Given the description of an element on the screen output the (x, y) to click on. 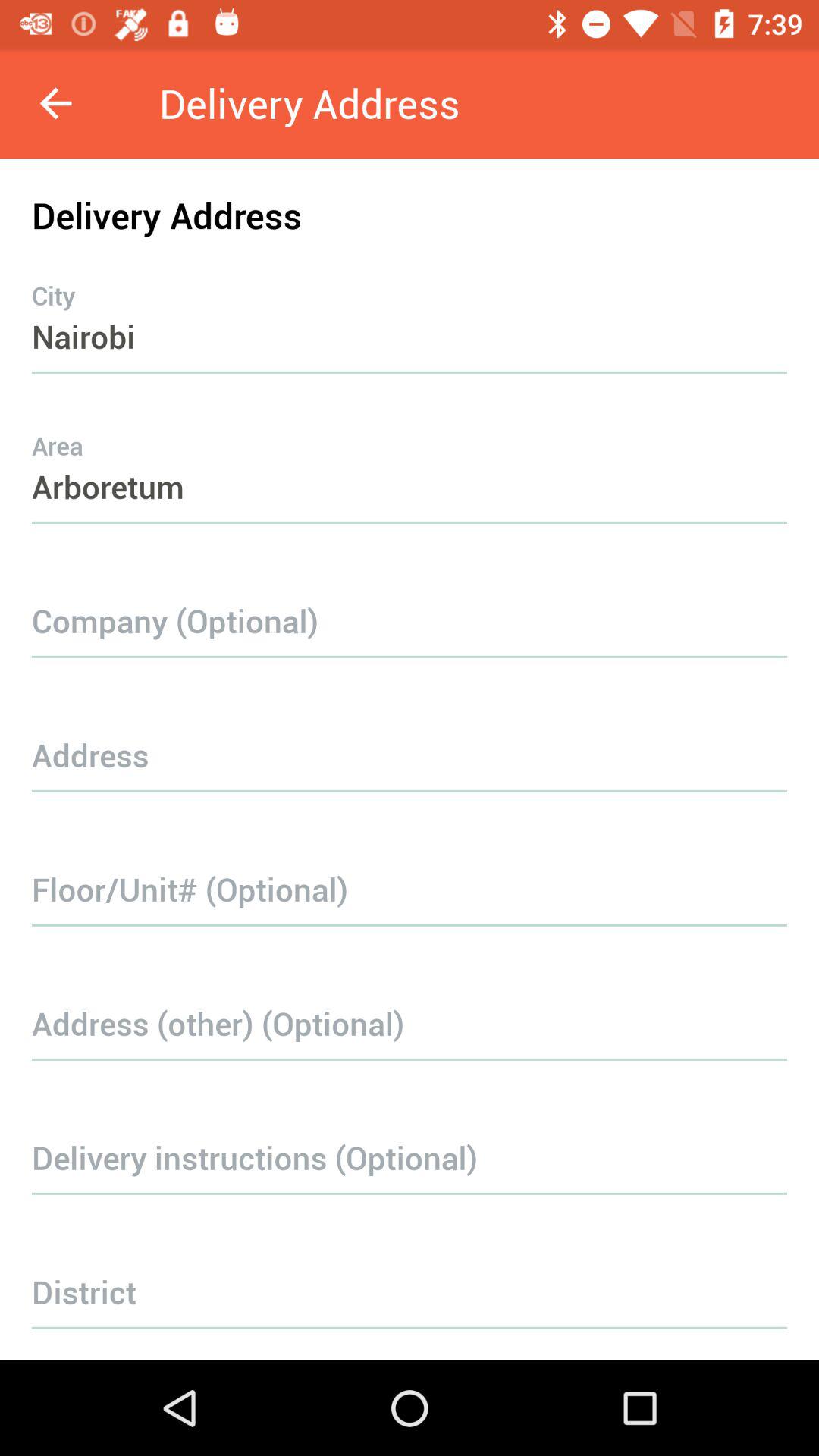
turn off the item above delivery address (55, 103)
